Given the description of an element on the screen output the (x, y) to click on. 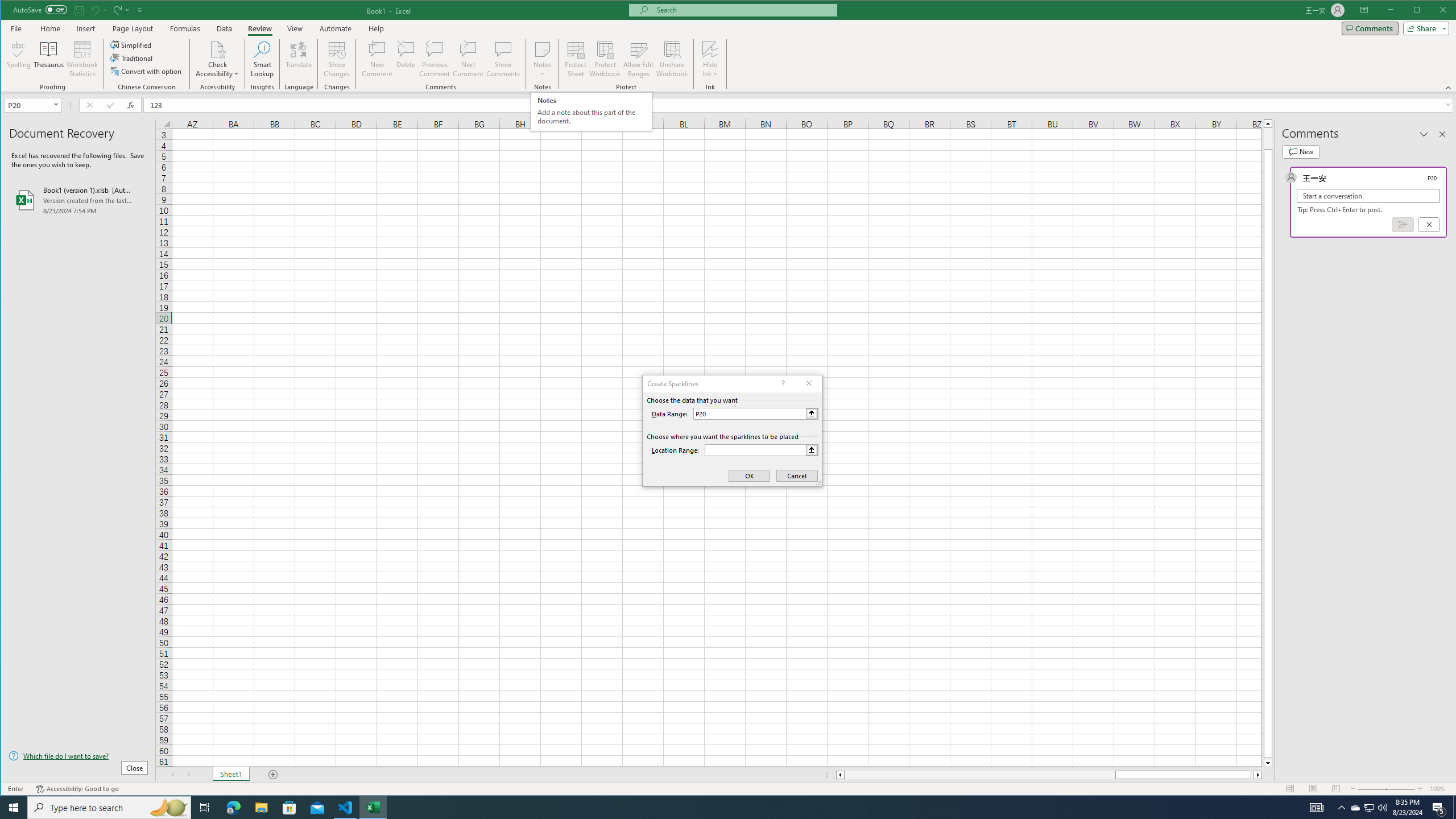
Close (1445, 11)
Show Comments (502, 59)
Book1 (version 1).xlsb  [AutoRecovered] (78, 199)
Page Layout (132, 28)
Redo (116, 9)
New Comment (377, 59)
Page right (1251, 774)
Delete (405, 59)
Save (79, 9)
Review (259, 28)
Page Layout (1312, 788)
Line up (1267, 122)
Home (50, 28)
Normal (1290, 788)
Redo (120, 9)
